Given the description of an element on the screen output the (x, y) to click on. 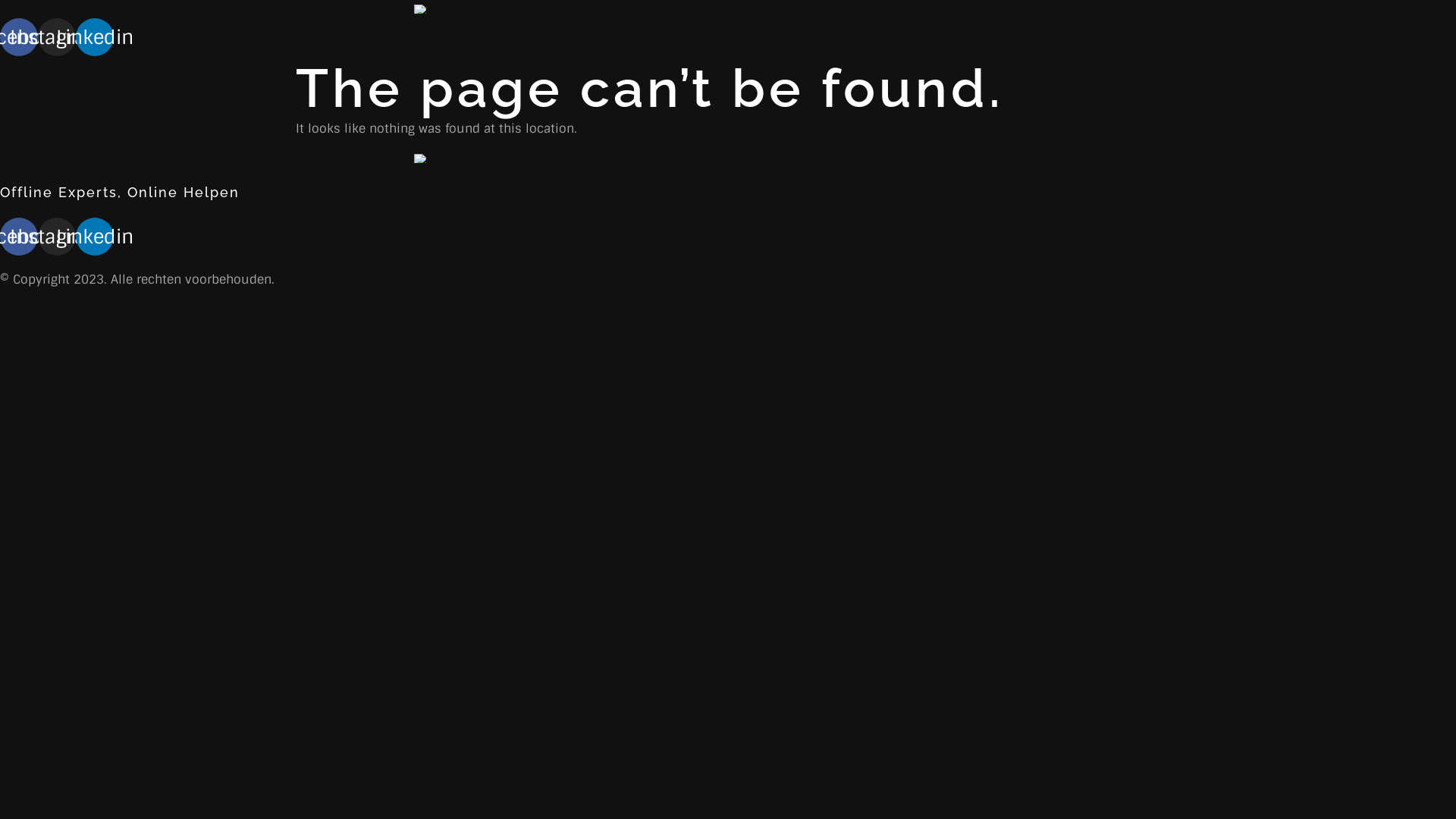
Linkedin Element type: text (94, 236)
Instagram Element type: text (56, 236)
Facebook Element type: text (18, 37)
Facebook Element type: text (18, 236)
Instagram Element type: text (56, 37)
Linkedin Element type: text (94, 37)
